Given the description of an element on the screen output the (x, y) to click on. 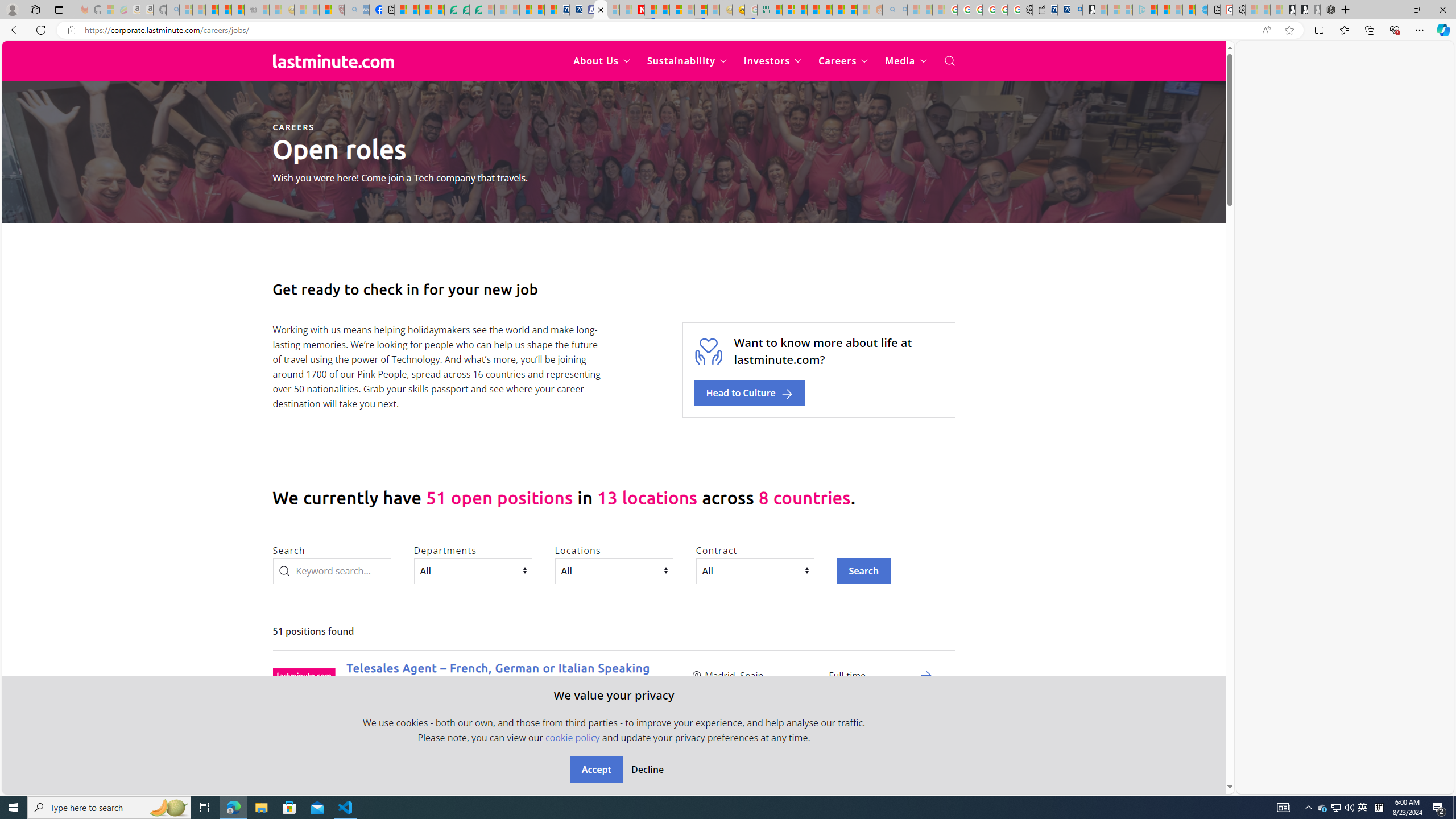
New tab (1213, 9)
Settings (1238, 9)
Media (906, 60)
MSNBC - MSN (775, 9)
World - MSN (425, 9)
Recipes - MSN - Sleeping (300, 9)
Combat Siege (250, 9)
Terms of Use Agreement (463, 9)
Media (906, 60)
Contract (754, 570)
Class: uk-svg (333, 60)
